Given the description of an element on the screen output the (x, y) to click on. 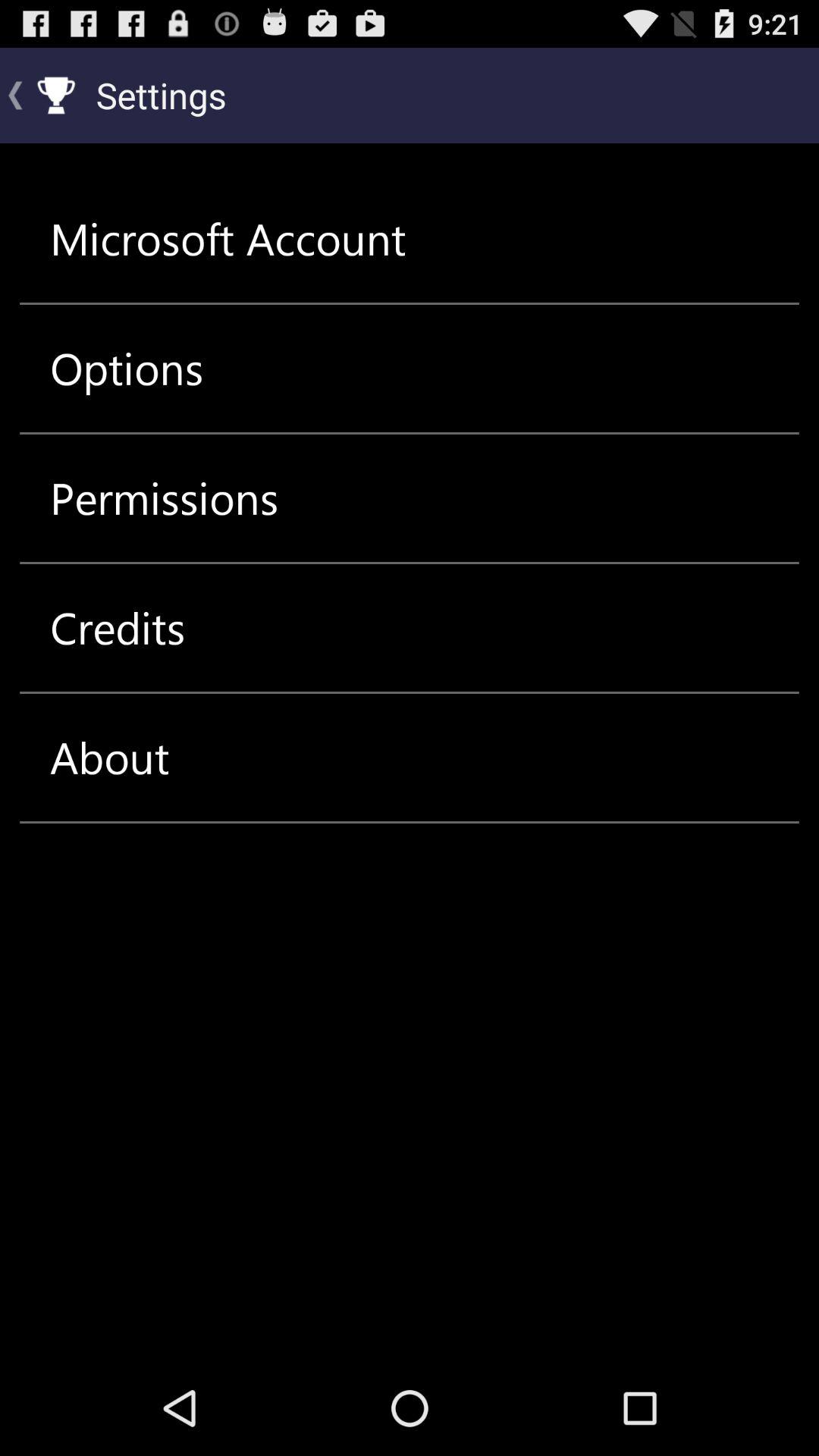
scroll until permissions item (164, 497)
